Given the description of an element on the screen output the (x, y) to click on. 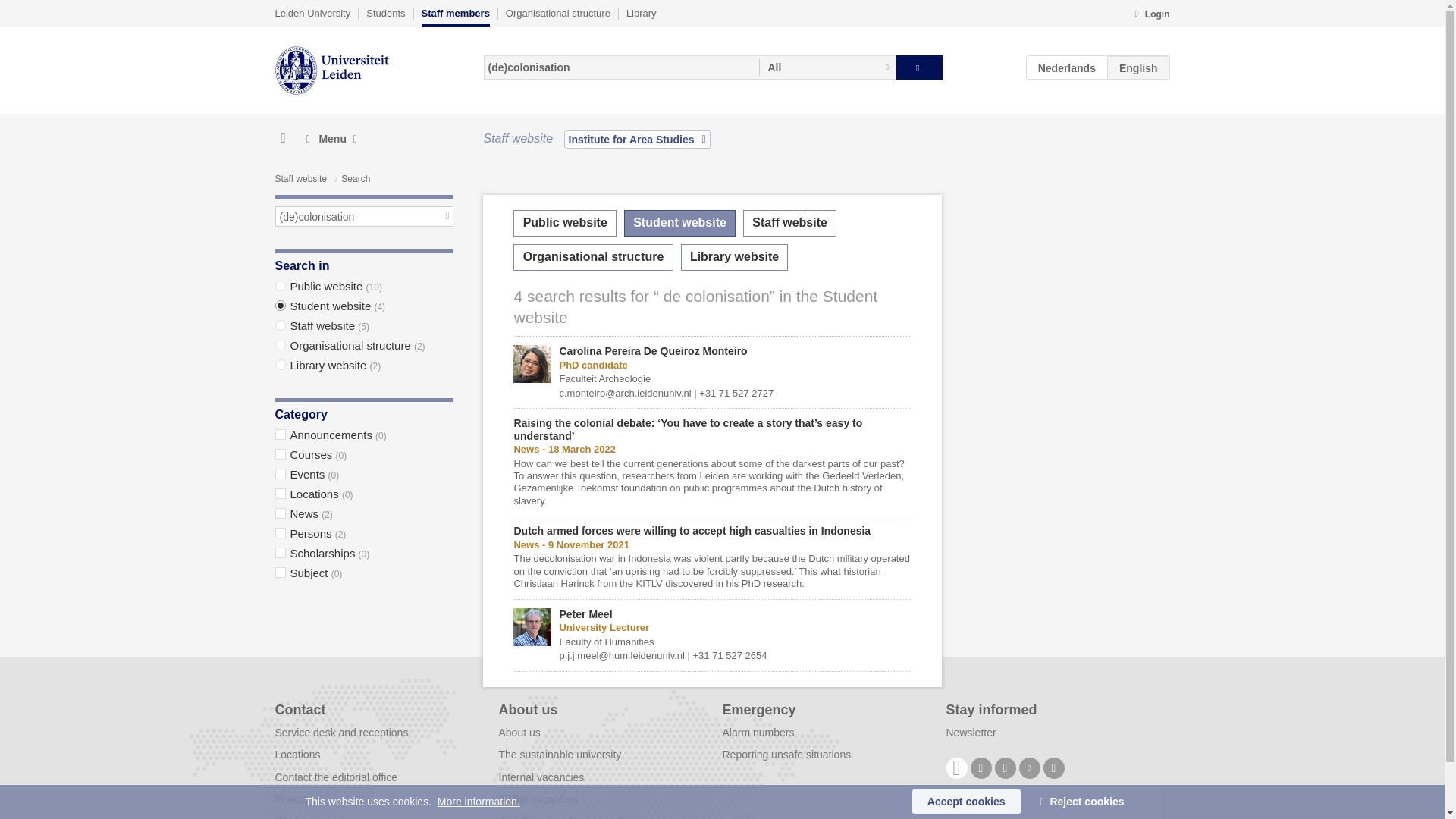
Login (1151, 14)
Students (385, 13)
Leiden University (312, 13)
Staff members (455, 17)
Institute for Area Studies (637, 139)
All (827, 67)
Search (919, 67)
Organisational structure (557, 13)
NL (1067, 67)
Menu (330, 139)
